Given the description of an element on the screen output the (x, y) to click on. 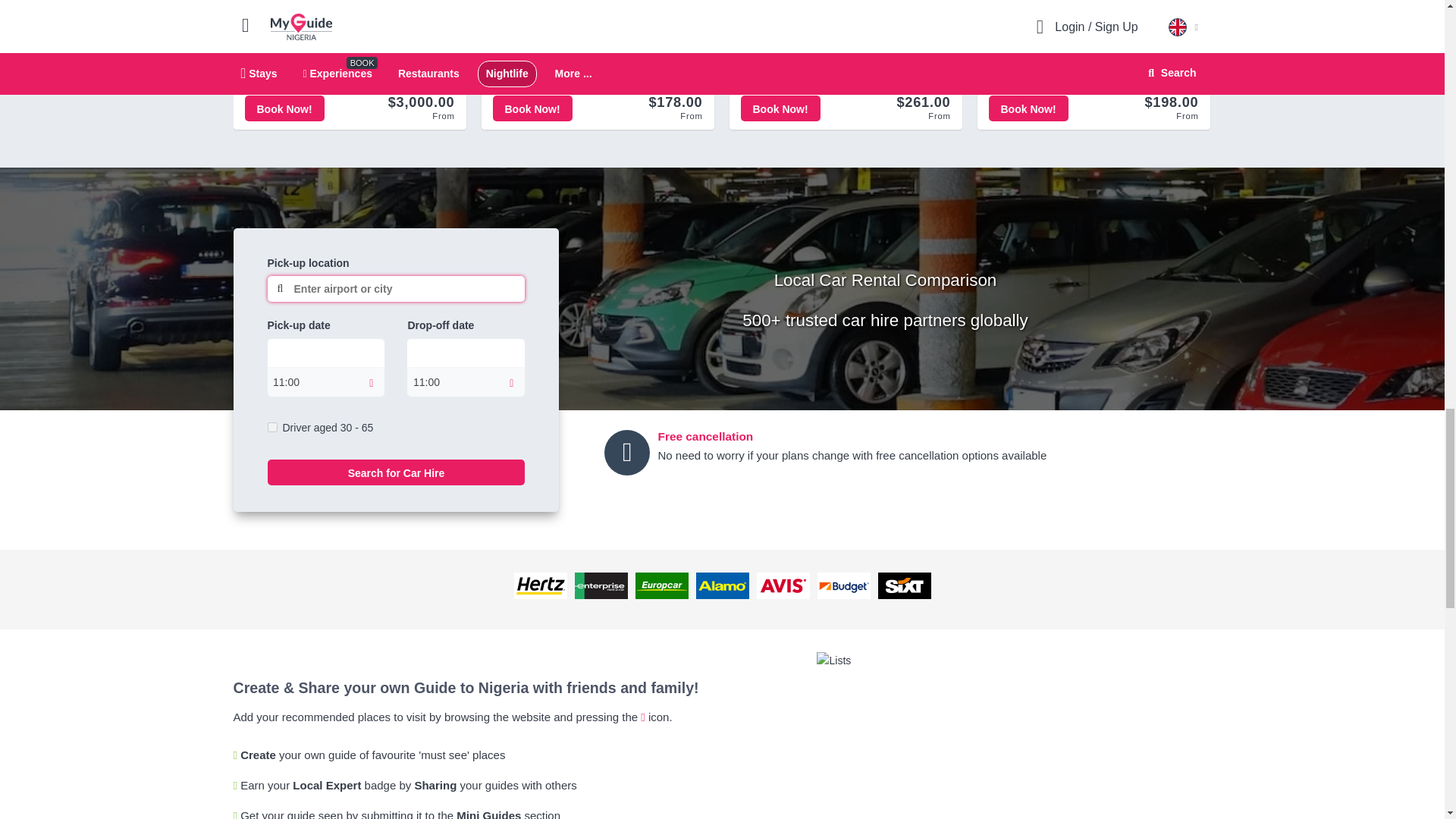
on (271, 427)
